Given the description of an element on the screen output the (x, y) to click on. 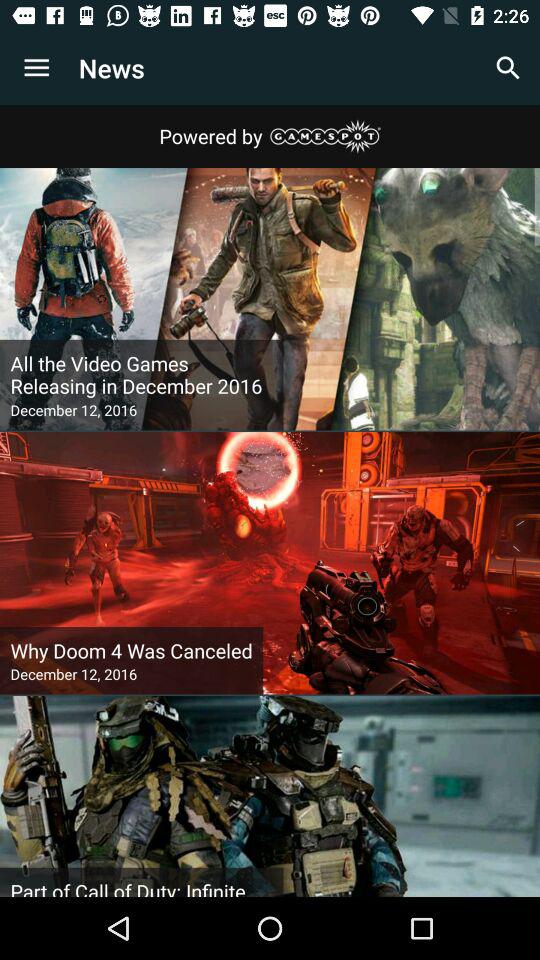
flip to the why doom 4 icon (131, 650)
